Given the description of an element on the screen output the (x, y) to click on. 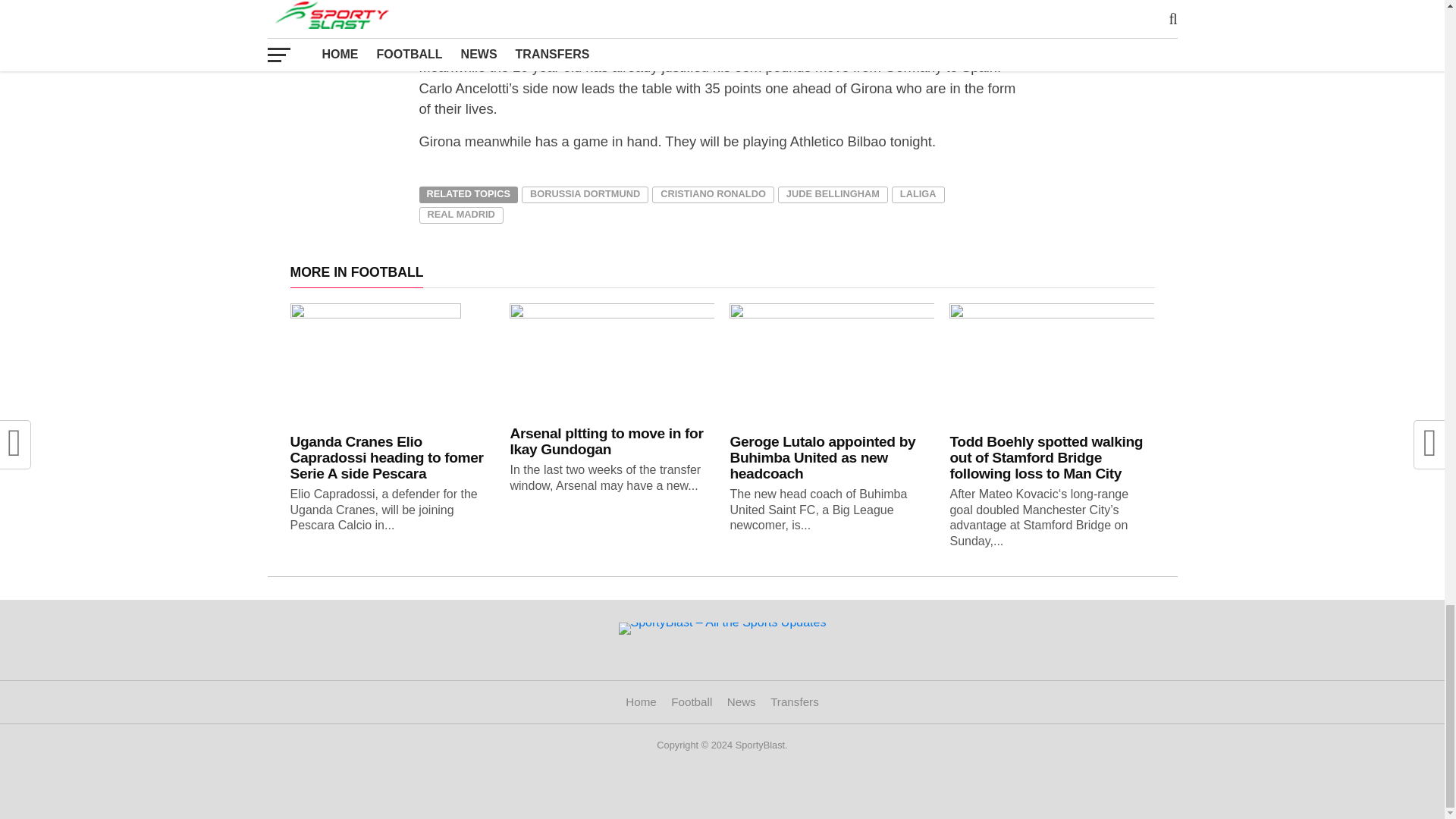
JUDE BELLINGHAM (832, 194)
CRISTIANO RONALDO (713, 194)
REAL MADRID (460, 215)
BORUSSIA DORTMUND (584, 194)
LALIGA (917, 194)
